Given the description of an element on the screen output the (x, y) to click on. 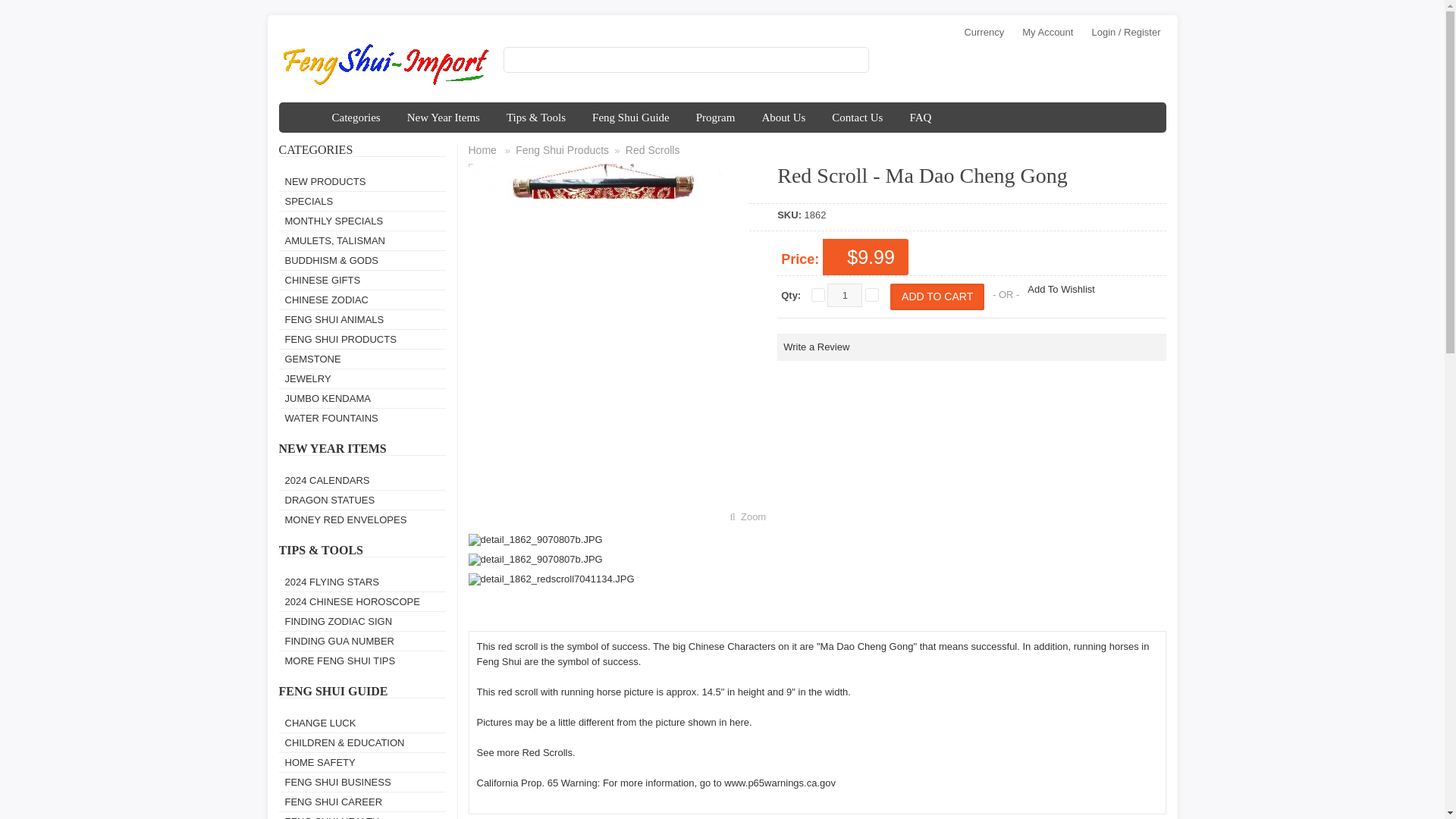
Home (301, 117)
Categories (355, 117)
New Year Items (444, 117)
Feng Shui Guide (630, 117)
Add To Cart (936, 296)
1 (844, 295)
